Given the description of an element on the screen output the (x, y) to click on. 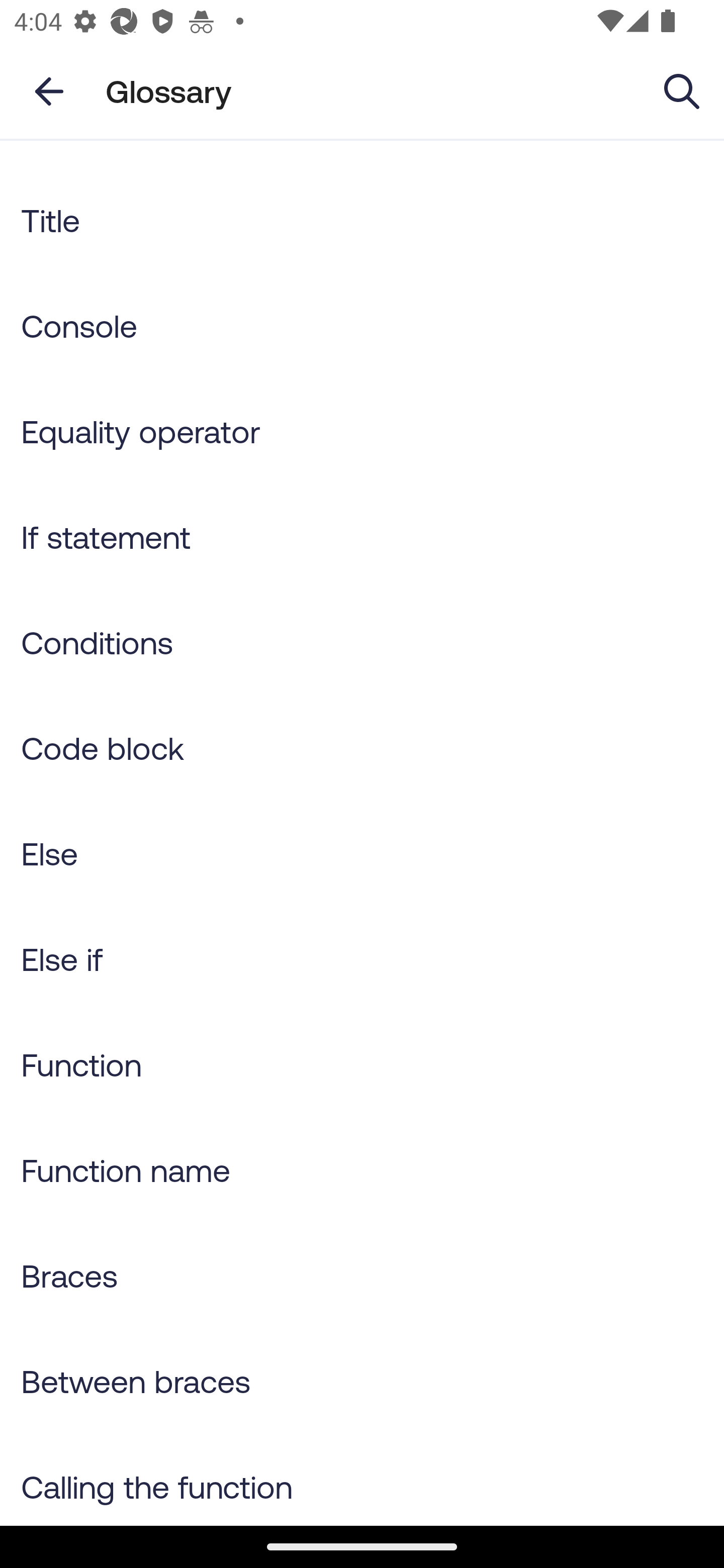
Navigate up (49, 91)
Search Glossary (681, 90)
Title (362, 219)
Console (362, 324)
Equality operator (362, 430)
If statement (362, 536)
Conditions (362, 641)
Code block  (362, 747)
Else (362, 853)
Else if (362, 958)
Function (362, 1063)
Function name (362, 1169)
Braces (362, 1275)
Between braces (362, 1380)
Calling the function (362, 1479)
